Given the description of an element on the screen output the (x, y) to click on. 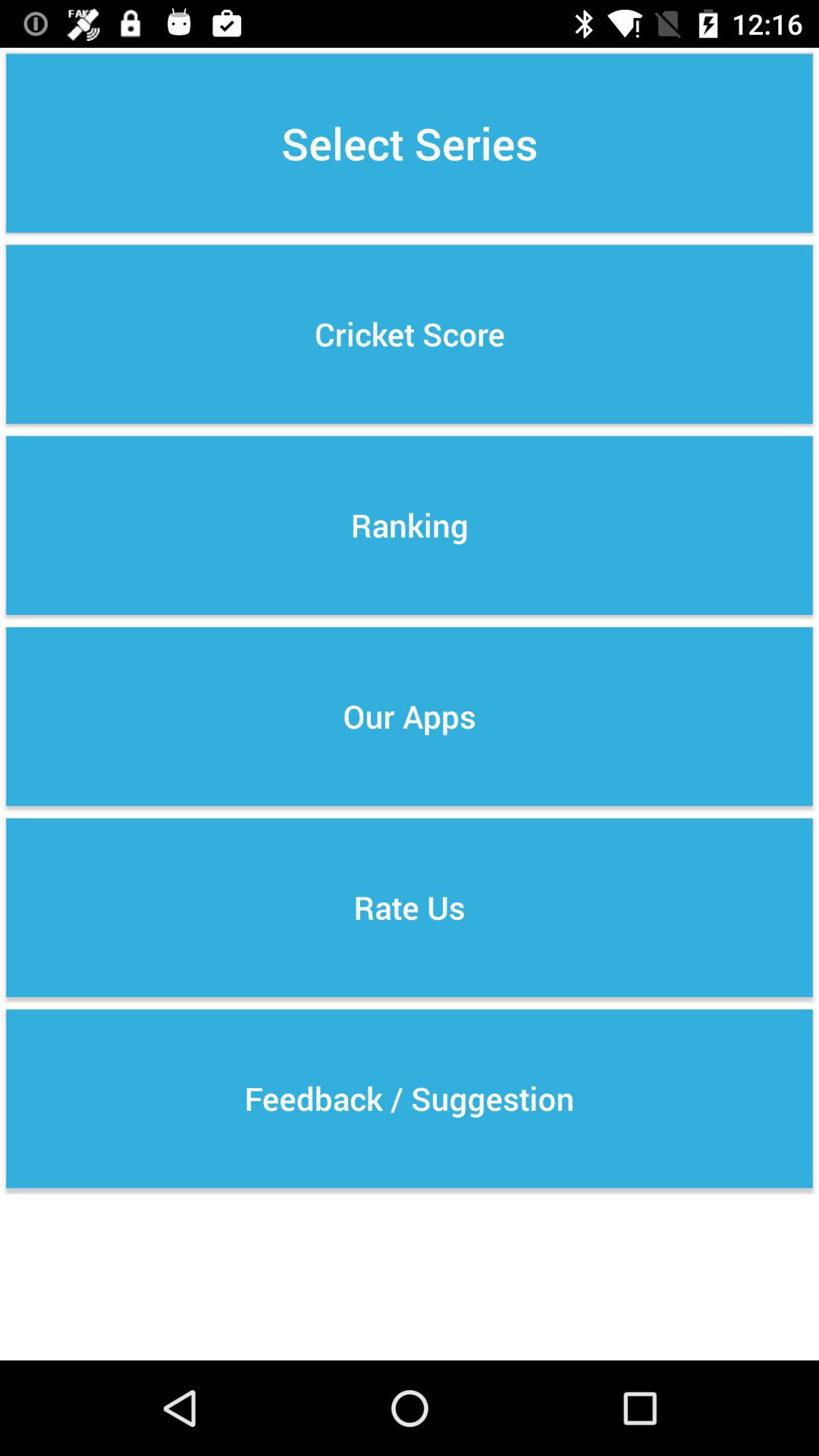
turn off the icon above the ranking item (409, 334)
